Given the description of an element on the screen output the (x, y) to click on. 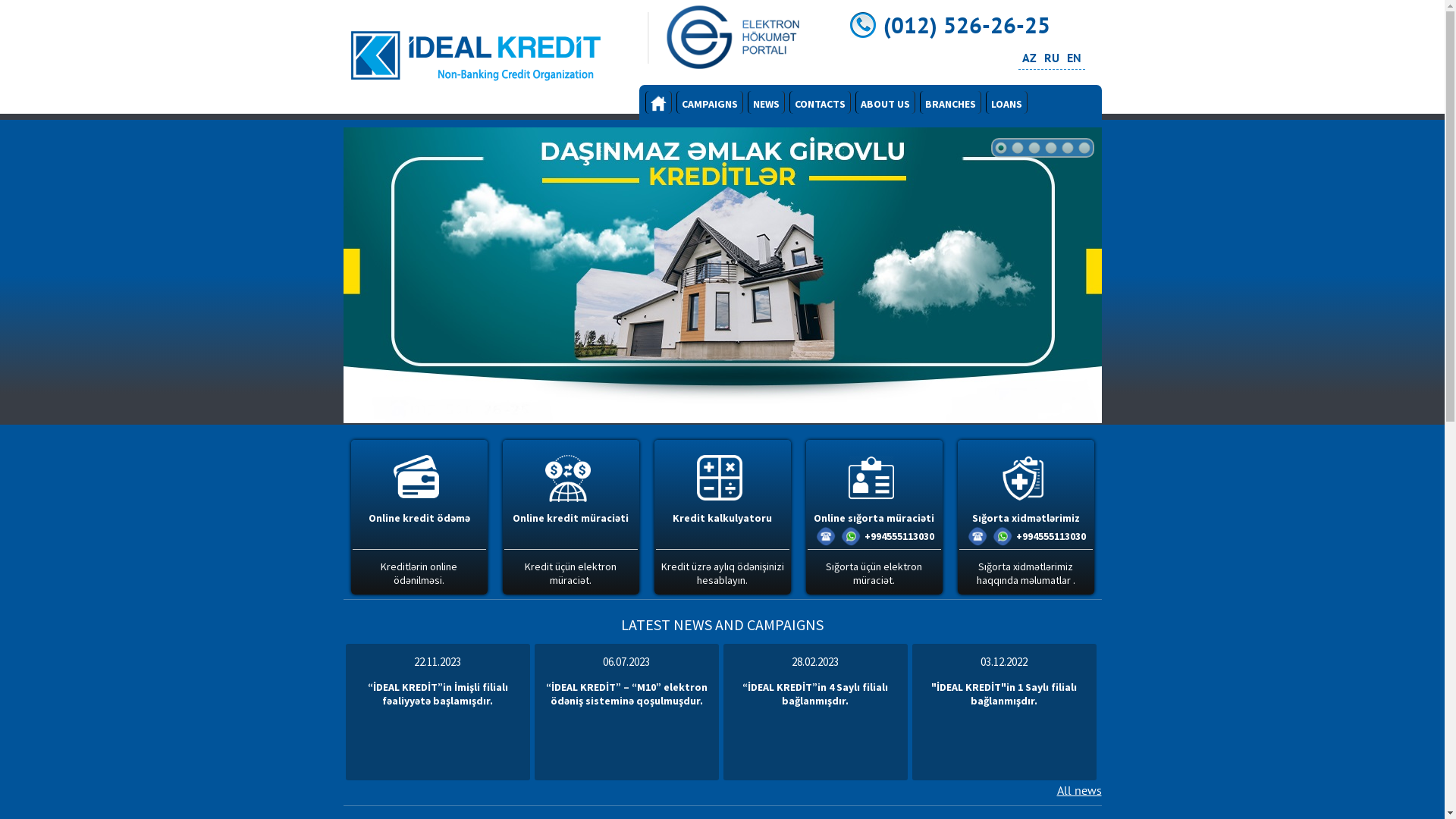
AZ Element type: text (1029, 57)
ABOUT US Element type: text (885, 102)
5 Element type: text (1066, 147)
4 Element type: text (1049, 147)
6 Element type: text (1083, 147)
BRANCHES Element type: text (949, 102)
All news Element type: text (1079, 789)
LOANS Element type: text (1006, 102)
EN Element type: text (1073, 57)
3 Element type: text (1033, 147)
NEWS Element type: text (765, 102)
1 Element type: text (999, 147)
CAMPAIGNS Element type: text (709, 102)
2 Element type: text (1016, 147)
CONTACTS Element type: text (819, 102)
RU Element type: text (1050, 57)
